Given the description of an element on the screen output the (x, y) to click on. 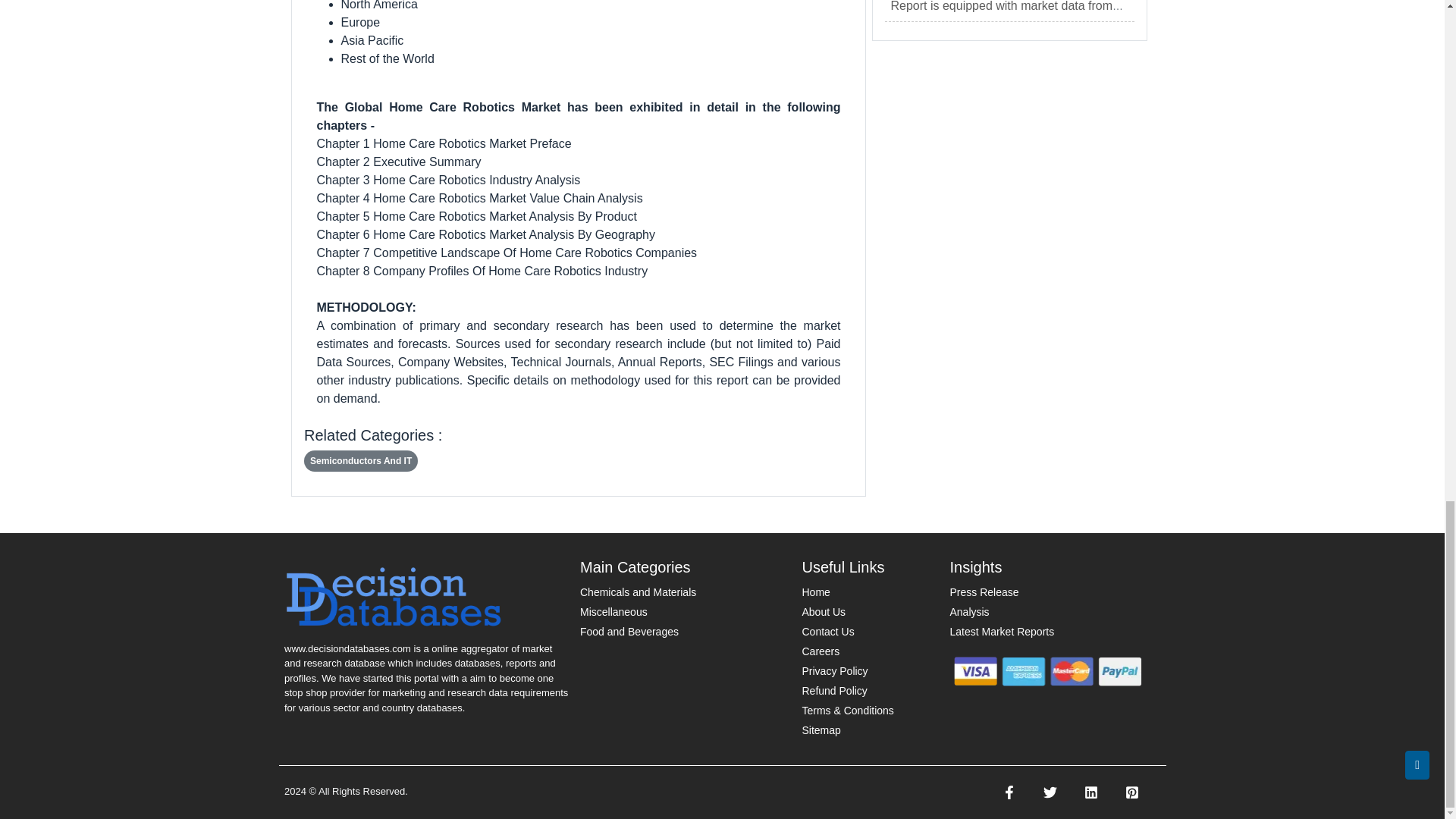
Food and Beverages (628, 631)
Miscellaneous (613, 612)
Semiconductors And IT (360, 460)
Careers (821, 651)
Chemicals and Materials (637, 592)
Privacy Policy (834, 671)
About Us (823, 612)
Home (815, 592)
Contact Us (827, 631)
